Given the description of an element on the screen output the (x, y) to click on. 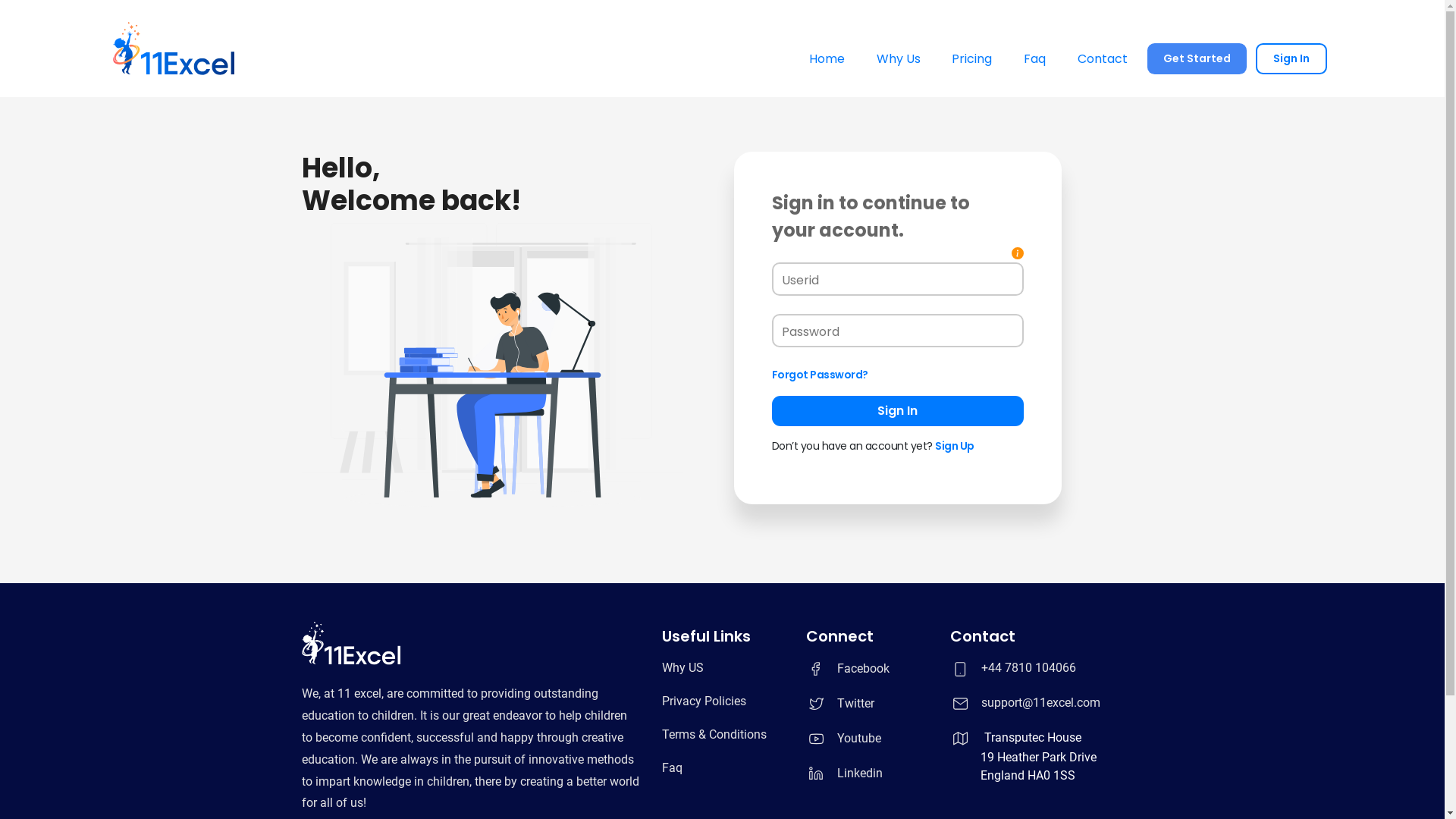
Terms & Conditions Element type: text (713, 734)
Sign Up Element type: text (954, 445)
Privacy Policies Element type: text (703, 700)
Linkedin Element type: text (843, 772)
Youtube Element type: text (842, 738)
Why Us Element type: text (898, 58)
Facebook Element type: text (846, 668)
Pricing Element type: text (972, 58)
Faq Element type: text (671, 767)
Faq Element type: text (1034, 58)
Get Started Element type: text (1196, 58)
Contact Element type: text (1102, 58)
Sign In Element type: text (1291, 58)
Home Element type: text (826, 58)
+44 7810 104066 Element type: text (1028, 668)
Forgot Password? Element type: text (819, 374)
Username for Students and Email for Others Element type: hover (1017, 253)
Why US Element type: text (681, 667)
support@11excel.com Element type: text (1040, 703)
Twitter Element type: text (839, 703)
Sign In Element type: text (897, 410)
